Given the description of an element on the screen output the (x, y) to click on. 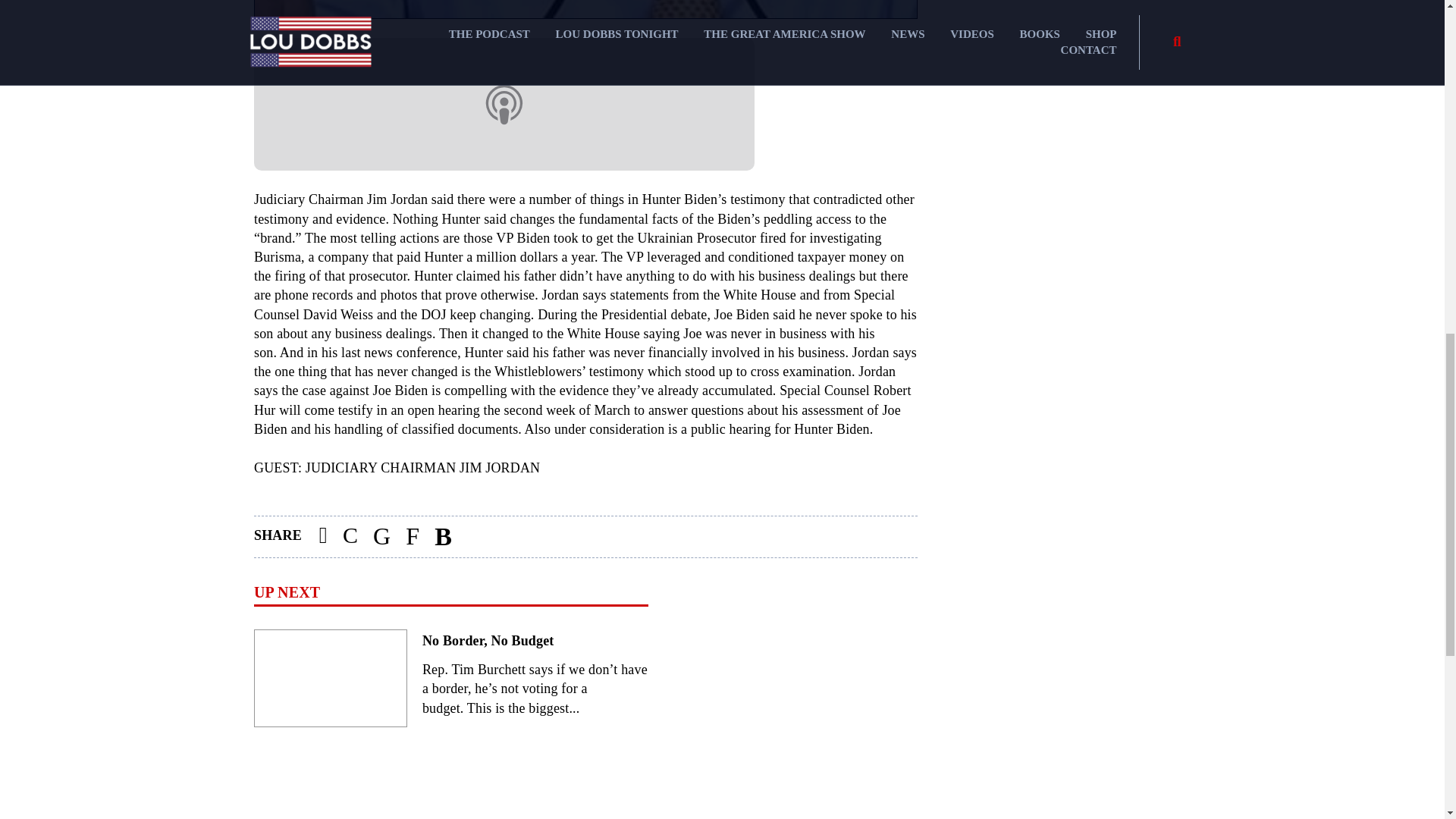
Share on Gettr (443, 536)
Share on Facebook (322, 536)
Share on Parler (349, 536)
Share on Twitter (381, 536)
Share on Truth Social (411, 536)
